Given the description of an element on the screen output the (x, y) to click on. 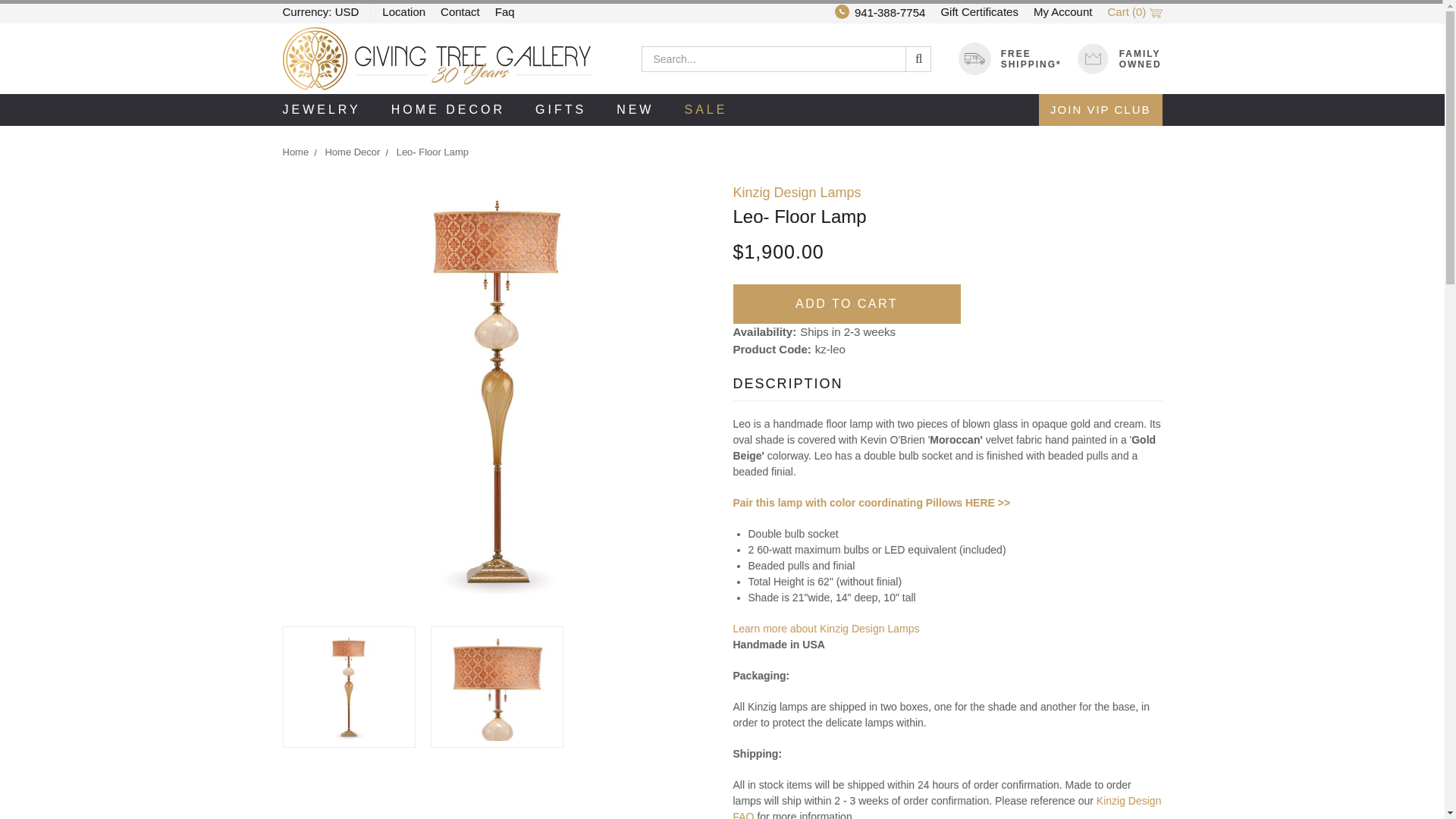
Add to Cart (845, 303)
The Giving Tree Gallery (435, 58)
